Given the description of an element on the screen output the (x, y) to click on. 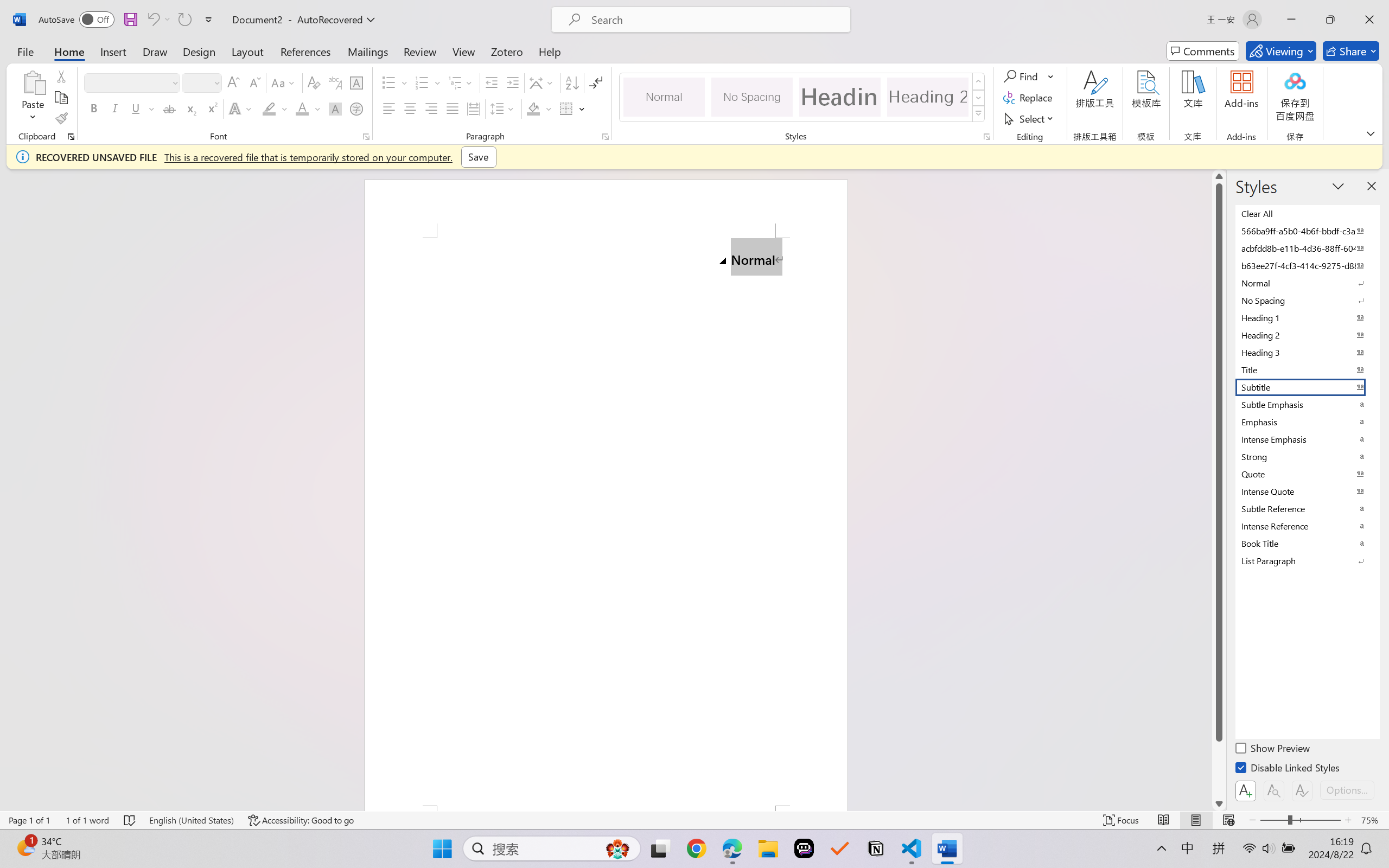
Normal (1306, 282)
Cut (60, 75)
Copy (60, 97)
Intense Quote (1306, 490)
Intense Emphasis (1306, 438)
Distributed (473, 108)
Italic (115, 108)
Character Border (356, 82)
Text Highlight Color (274, 108)
Can't Undo (152, 19)
